Given the description of an element on the screen output the (x, y) to click on. 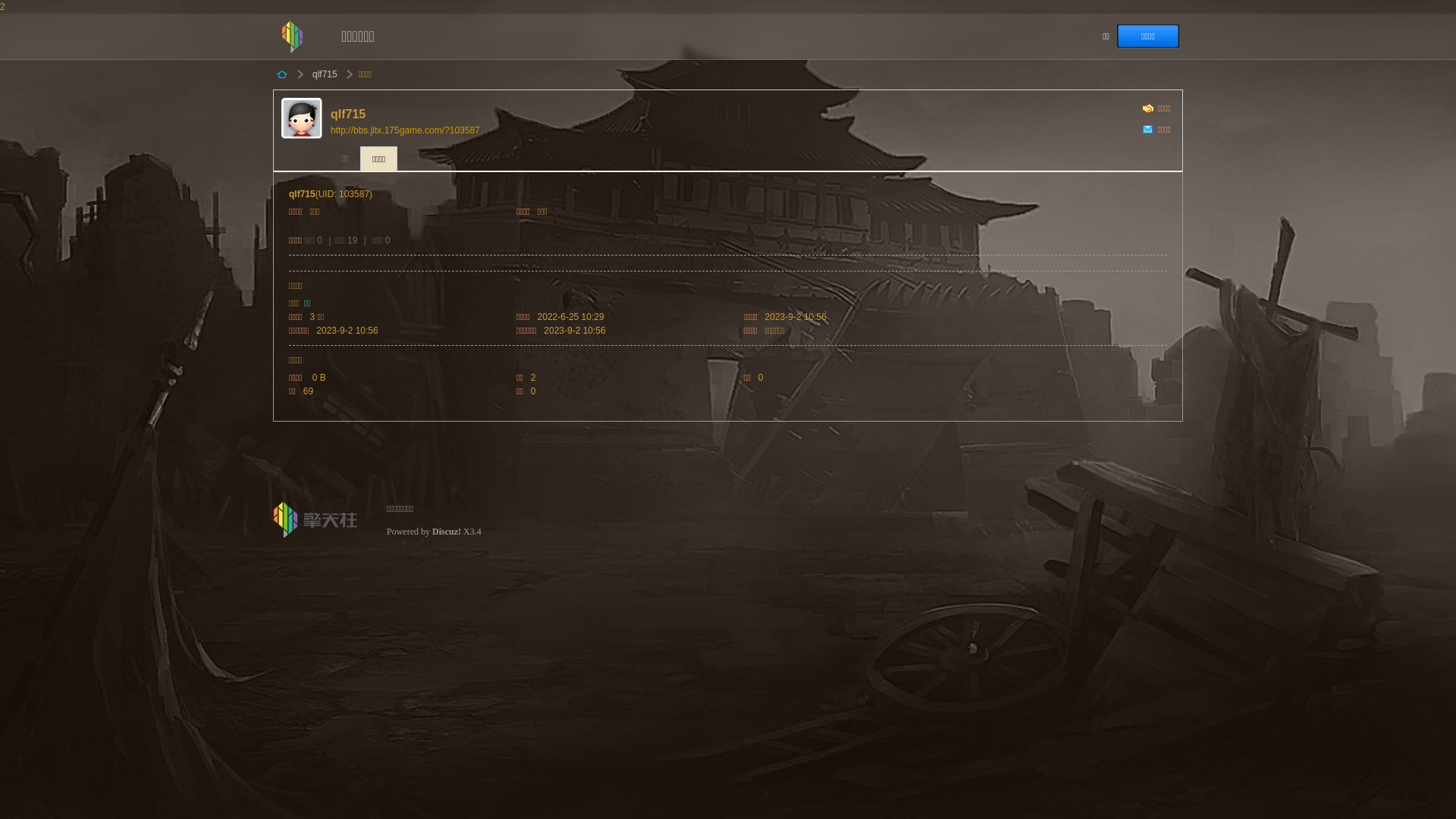
qlf715 Element type: text (324, 74)
http://bbs.jltx.175game.com/?103587 Element type: text (405, 130)
Discuz! Element type: text (446, 531)
